Given the description of an element on the screen output the (x, y) to click on. 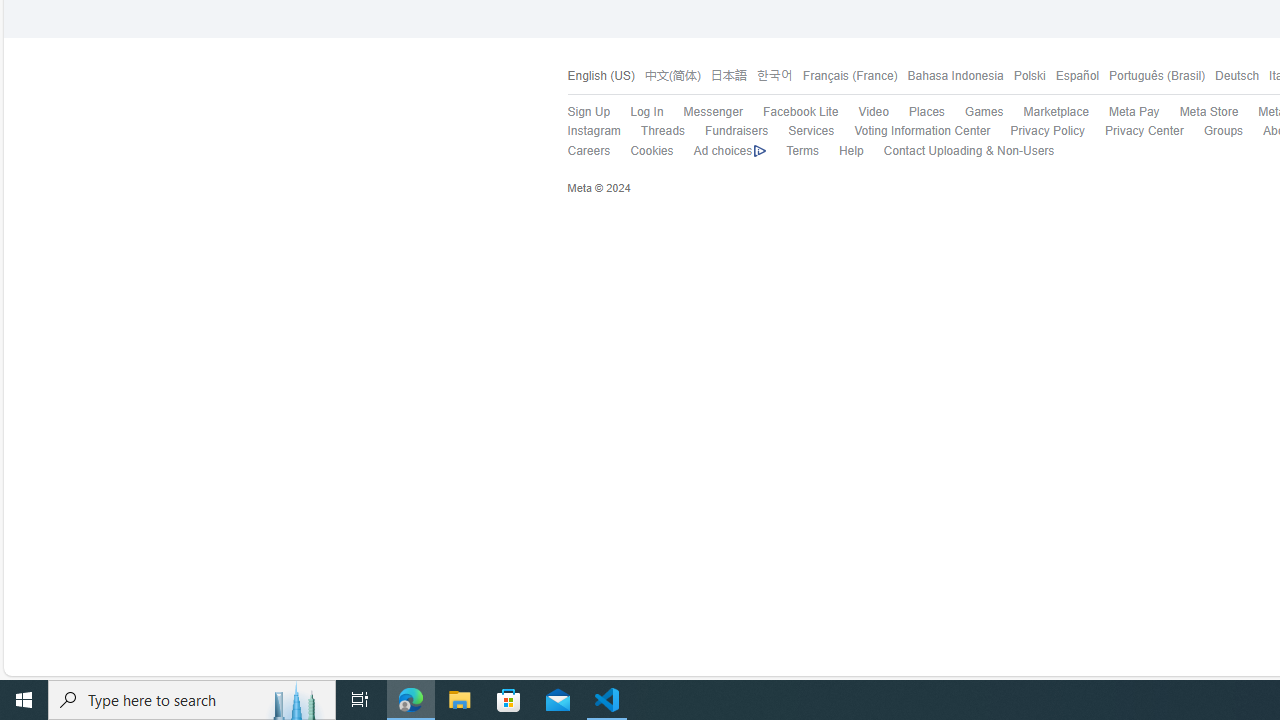
Privacy Policy (1037, 131)
Polski (1024, 75)
Fundraisers (726, 131)
Services (811, 130)
Ad choices (729, 151)
Meta Pay (1123, 112)
Contact Uploading & Non-Users (968, 150)
Facebook Lite (790, 112)
Privacy Center (1144, 130)
Cookies (651, 150)
Cookies (642, 151)
Threads (662, 130)
Contact Uploading & Non-Users (958, 151)
Instagram (593, 130)
